Given the description of an element on the screen output the (x, y) to click on. 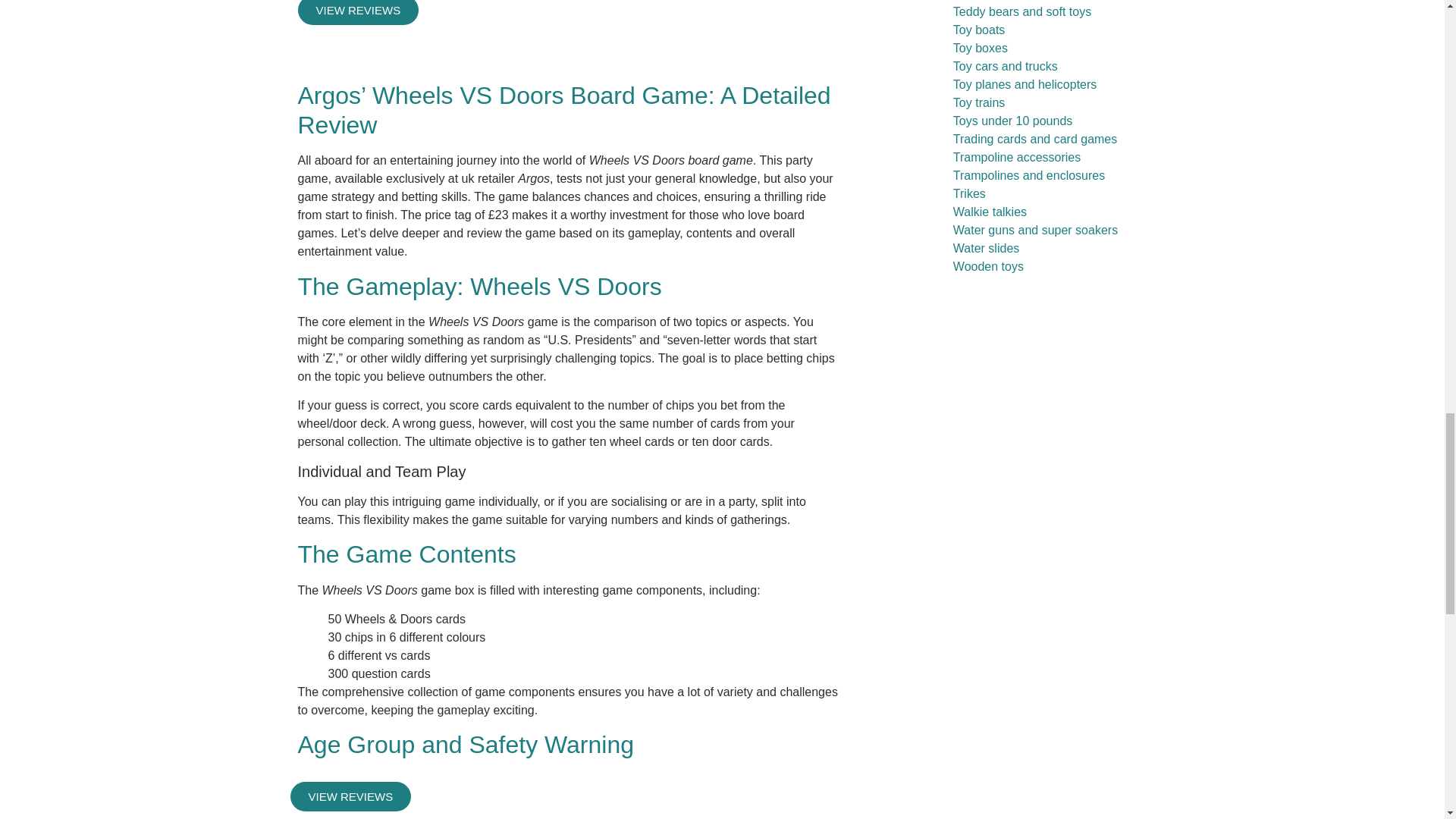
VIEW REVIEWS (358, 12)
